Given the description of an element on the screen output the (x, y) to click on. 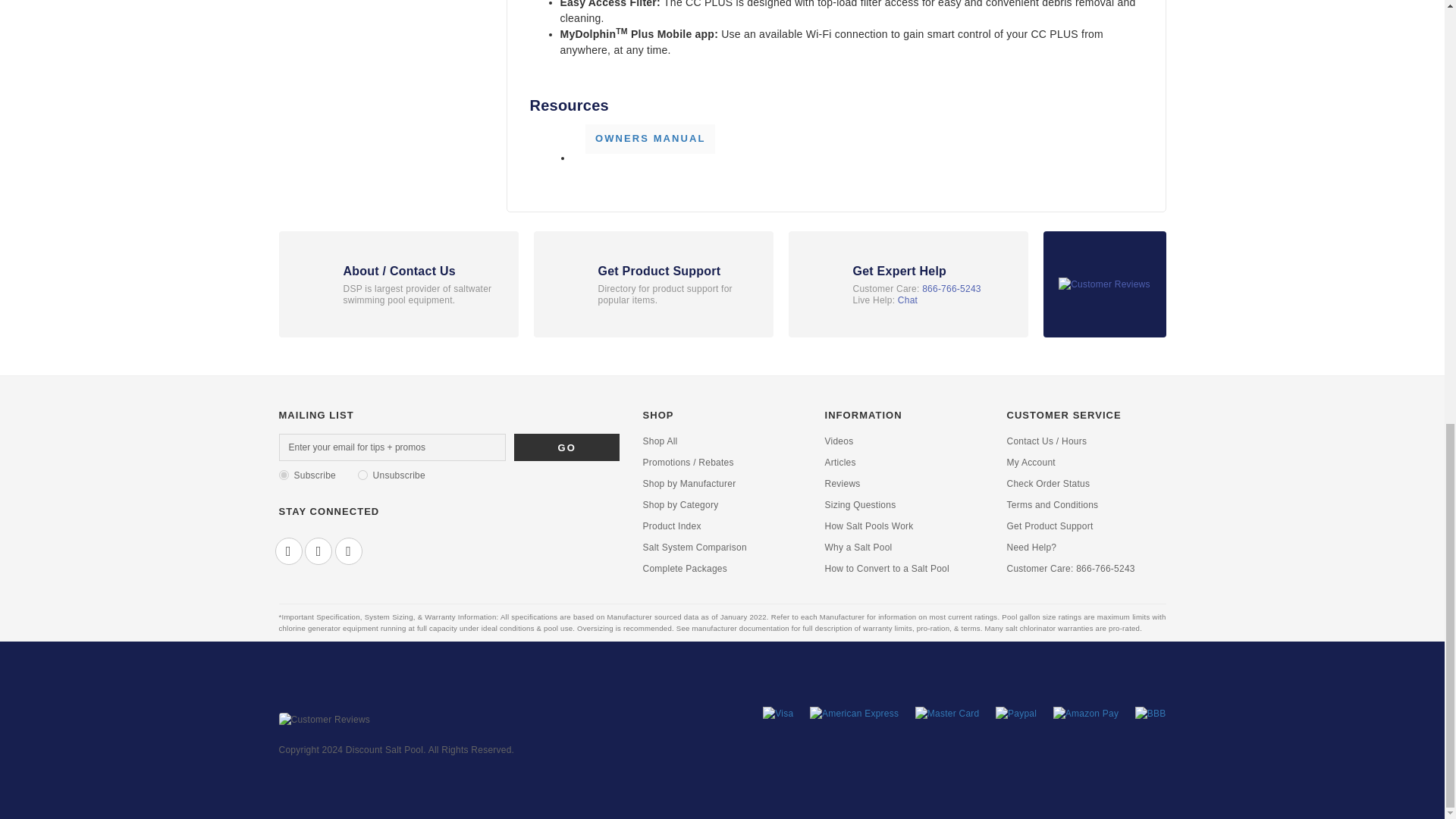
Master Card (947, 718)
GO (566, 447)
Better Business Bureau (1150, 718)
Amazon Pay (1085, 718)
1 (283, 474)
Follow Us on Instagram (317, 551)
Like Us on Facebook (288, 551)
Subscribe to our Channel (348, 551)
American Express (853, 718)
Paypal (1015, 718)
